Given the description of an element on the screen output the (x, y) to click on. 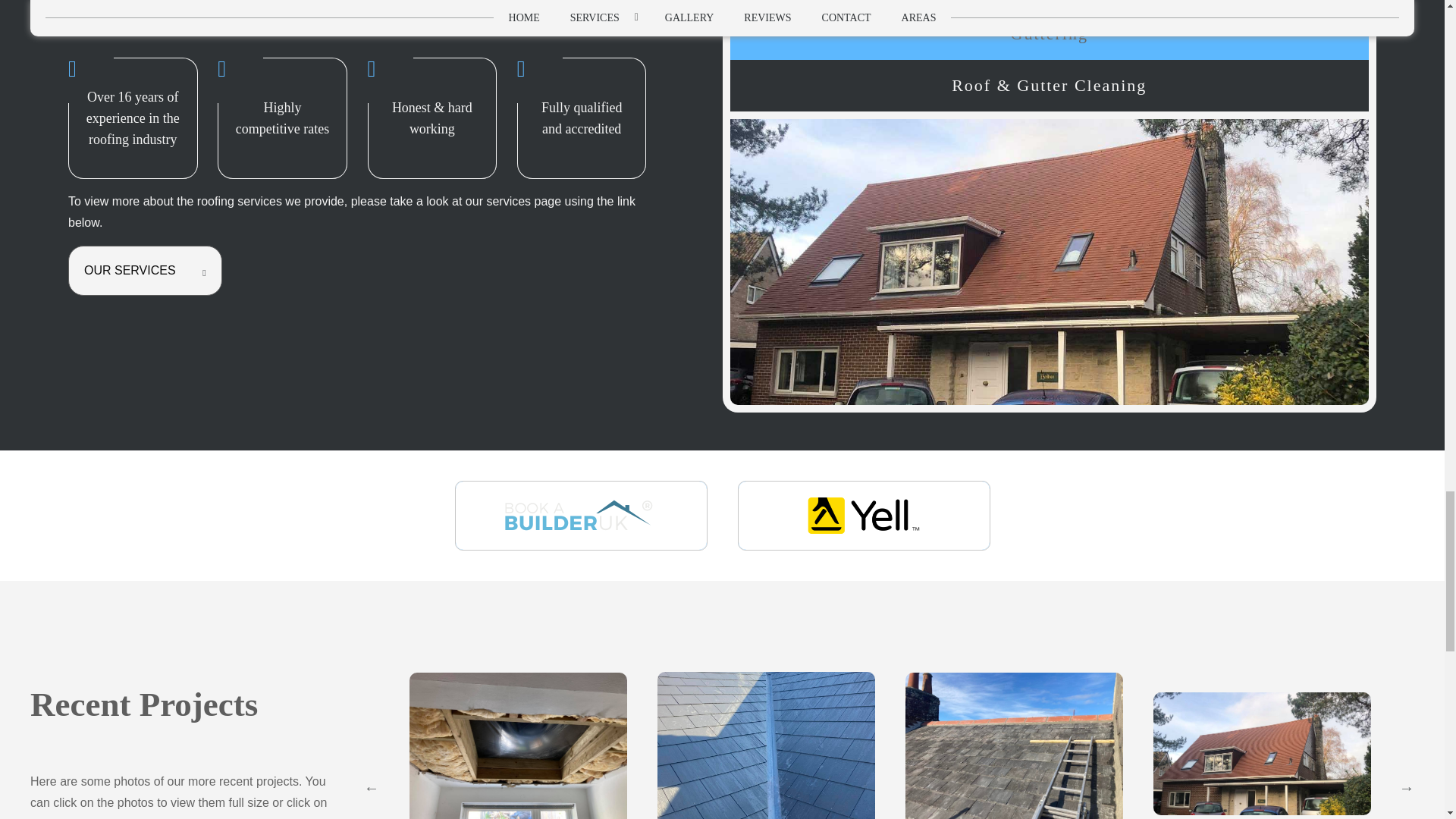
Next (1406, 787)
OUR SERVICES (144, 270)
Previous (371, 787)
